Given the description of an element on the screen output the (x, y) to click on. 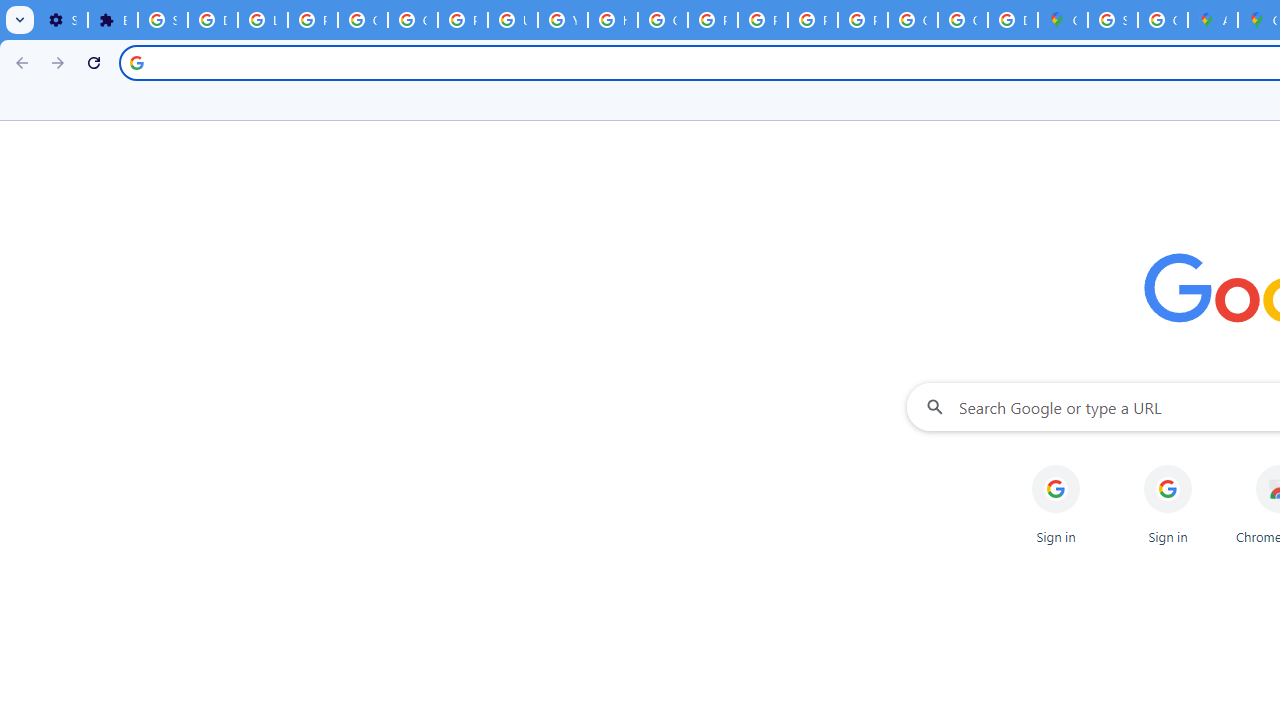
Remove (1208, 466)
Delete photos & videos - Computer - Google Photos Help (213, 20)
https://scholar.google.com/ (612, 20)
Google Maps (1062, 20)
Privacy Help Center - Policies Help (712, 20)
